Given the description of an element on the screen output the (x, y) to click on. 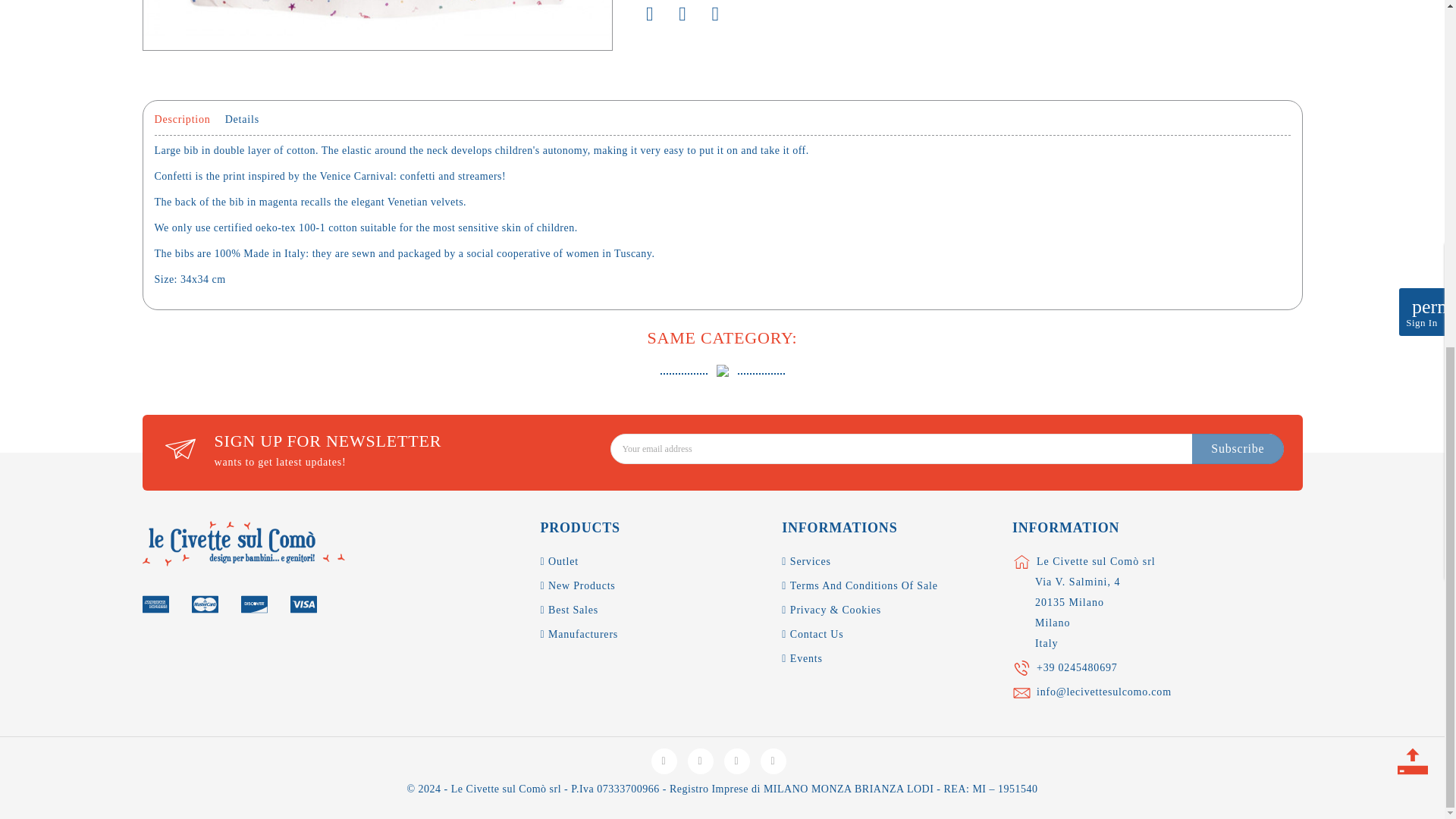
Pinterest (715, 14)
subscribe (1237, 449)
Share (649, 14)
Tweet (682, 14)
